Given the description of an element on the screen output the (x, y) to click on. 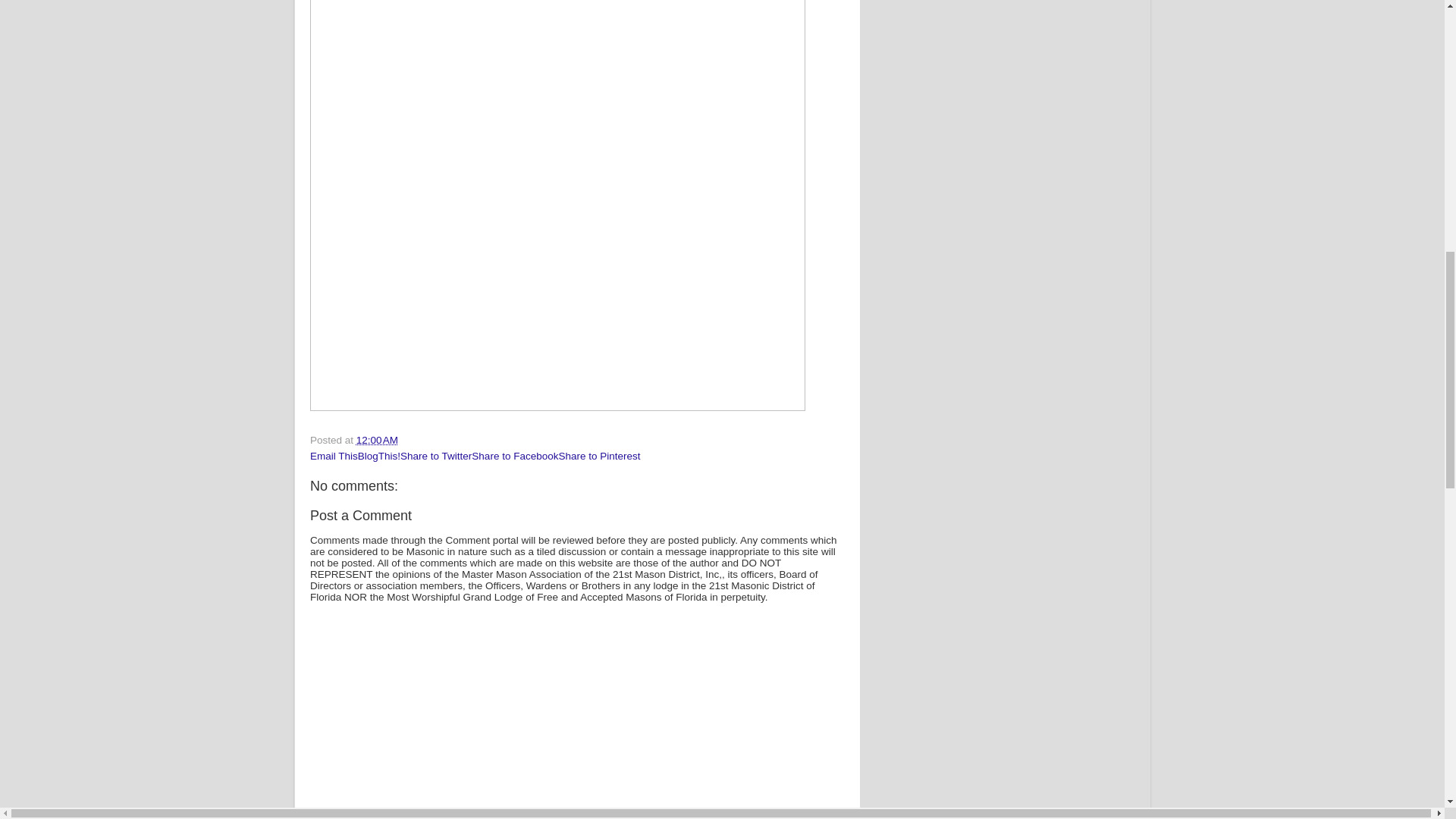
Share to Pinterest (598, 455)
Email This (334, 455)
Share to Twitter (435, 455)
BlogThis! (379, 455)
Share to Facebook (514, 455)
BlogThis! (379, 455)
Share to Pinterest (598, 455)
Share to Twitter (435, 455)
Share to Facebook (514, 455)
Email This (334, 455)
permanent link (376, 439)
